Given the description of an element on the screen output the (x, y) to click on. 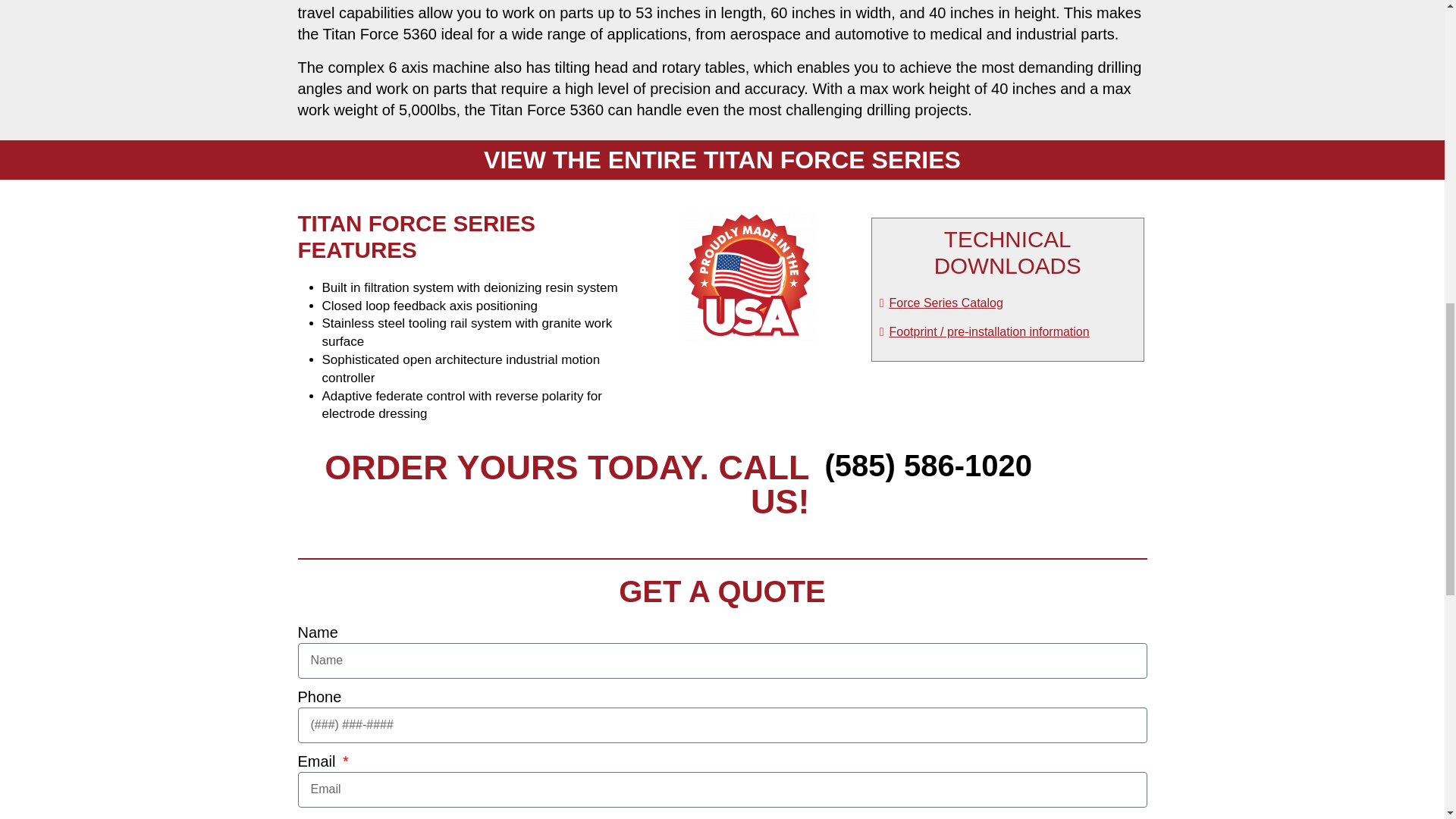
Force Series Catalog (941, 303)
VIEW THE ENTIRE TITAN FORCE SERIES (721, 159)
MadeInUSA (748, 276)
